Given the description of an element on the screen output the (x, y) to click on. 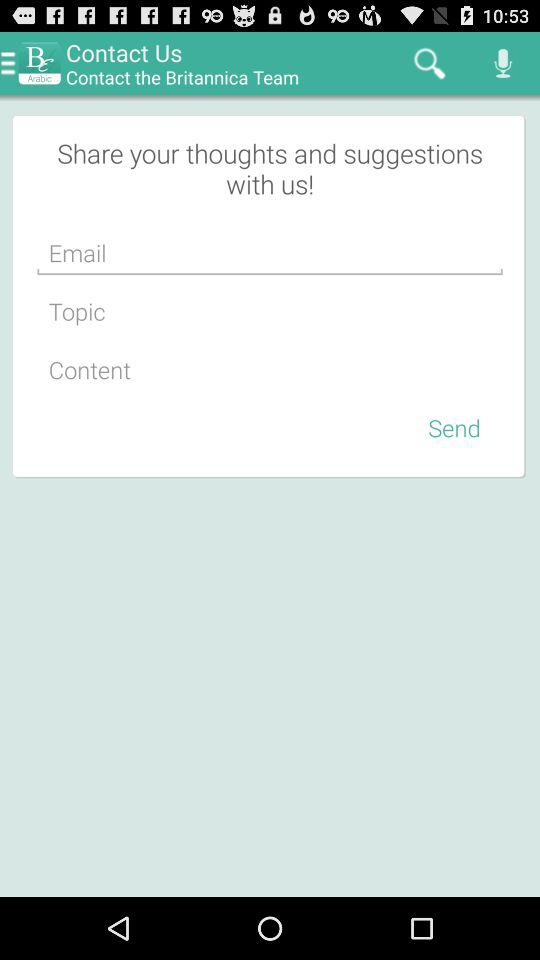
swipe to send (454, 427)
